Given the description of an element on the screen output the (x, y) to click on. 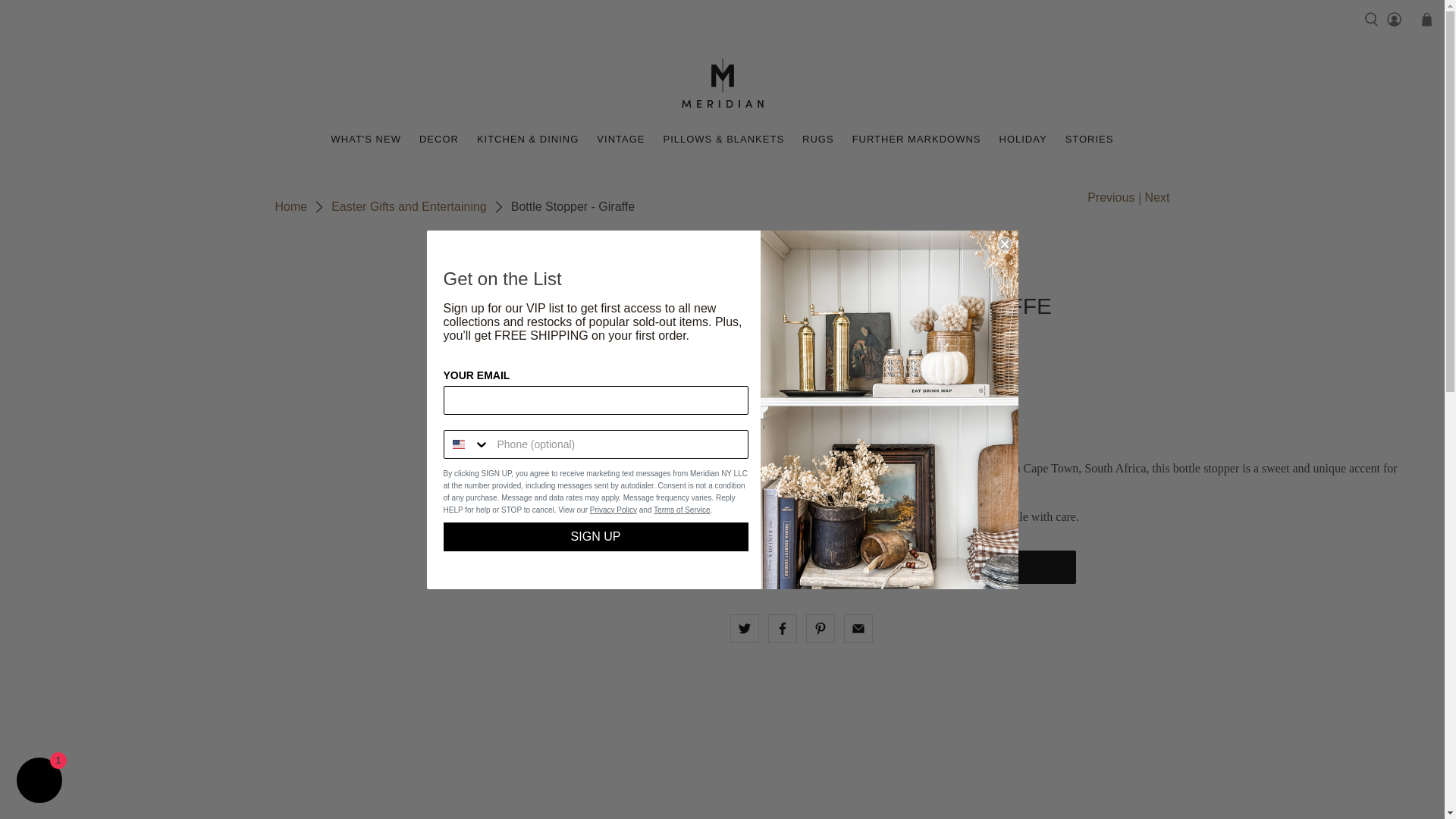
Share this on Pinterest (819, 628)
Next (1157, 198)
Email this to a friend (857, 628)
HOLIDAY (1023, 138)
RUGS (818, 138)
Previous (1110, 198)
Meridian (291, 206)
Easter Gifts and Entertaining (408, 206)
Share this on Twitter (743, 628)
Close dialog 3 (1003, 243)
WHAT'S NEW (365, 138)
DECOR (438, 138)
STORIES (1089, 138)
VINTAGE (620, 138)
Share this on Facebook (781, 628)
